Given the description of an element on the screen output the (x, y) to click on. 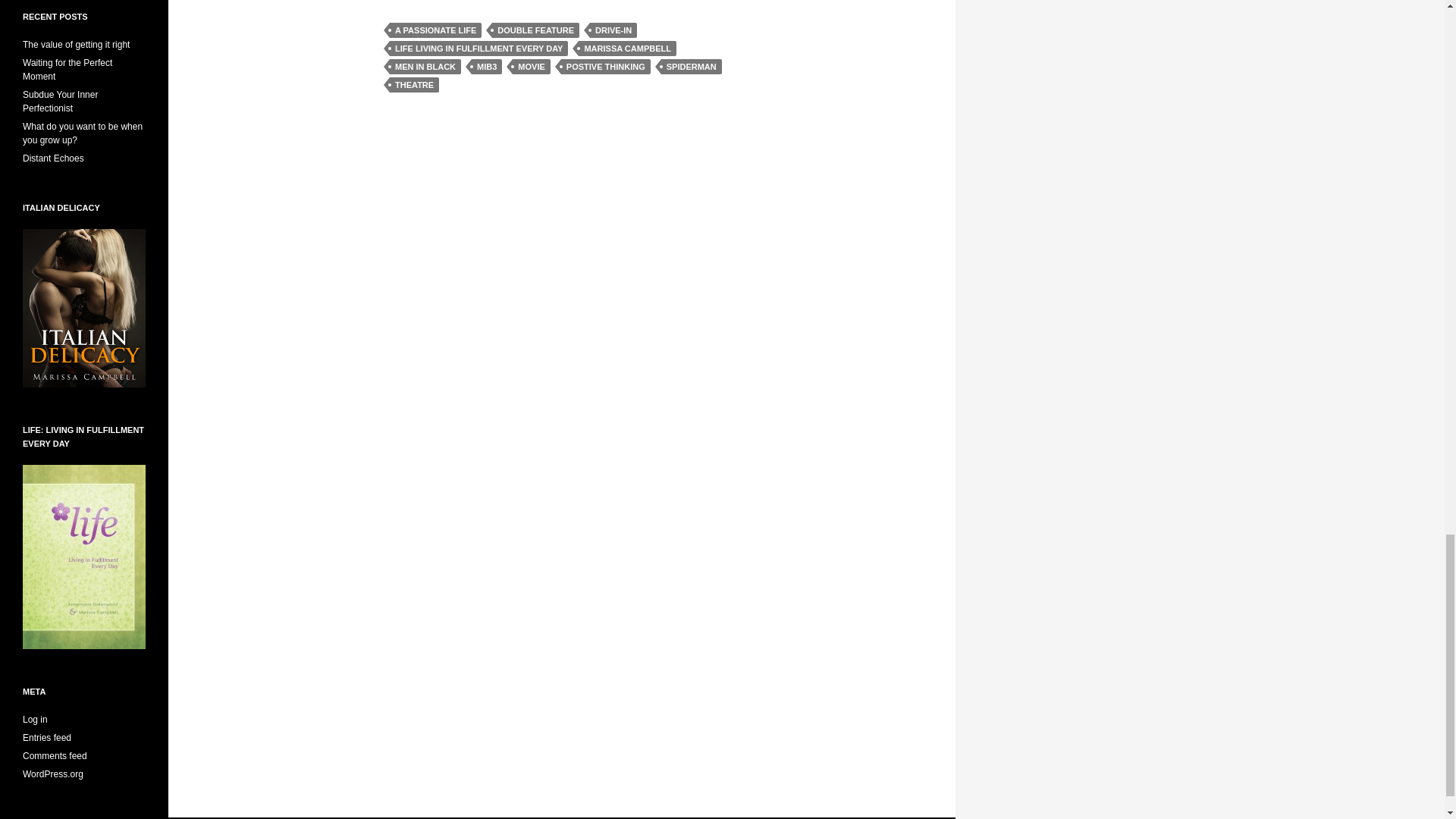
A PASSIONATE LIFE (435, 29)
THEATRE (414, 84)
MOVIE (531, 66)
POSTIVE THINKING (605, 66)
SPIDERMAN (691, 66)
MIB3 (486, 66)
MARISSA CAMPBELL (626, 48)
DOUBLE FEATURE (535, 29)
LIFE LIVING IN FULFILLMENT EVERY DAY (478, 48)
DRIVE-IN (613, 29)
MEN IN BLACK (425, 66)
